Given the description of an element on the screen output the (x, y) to click on. 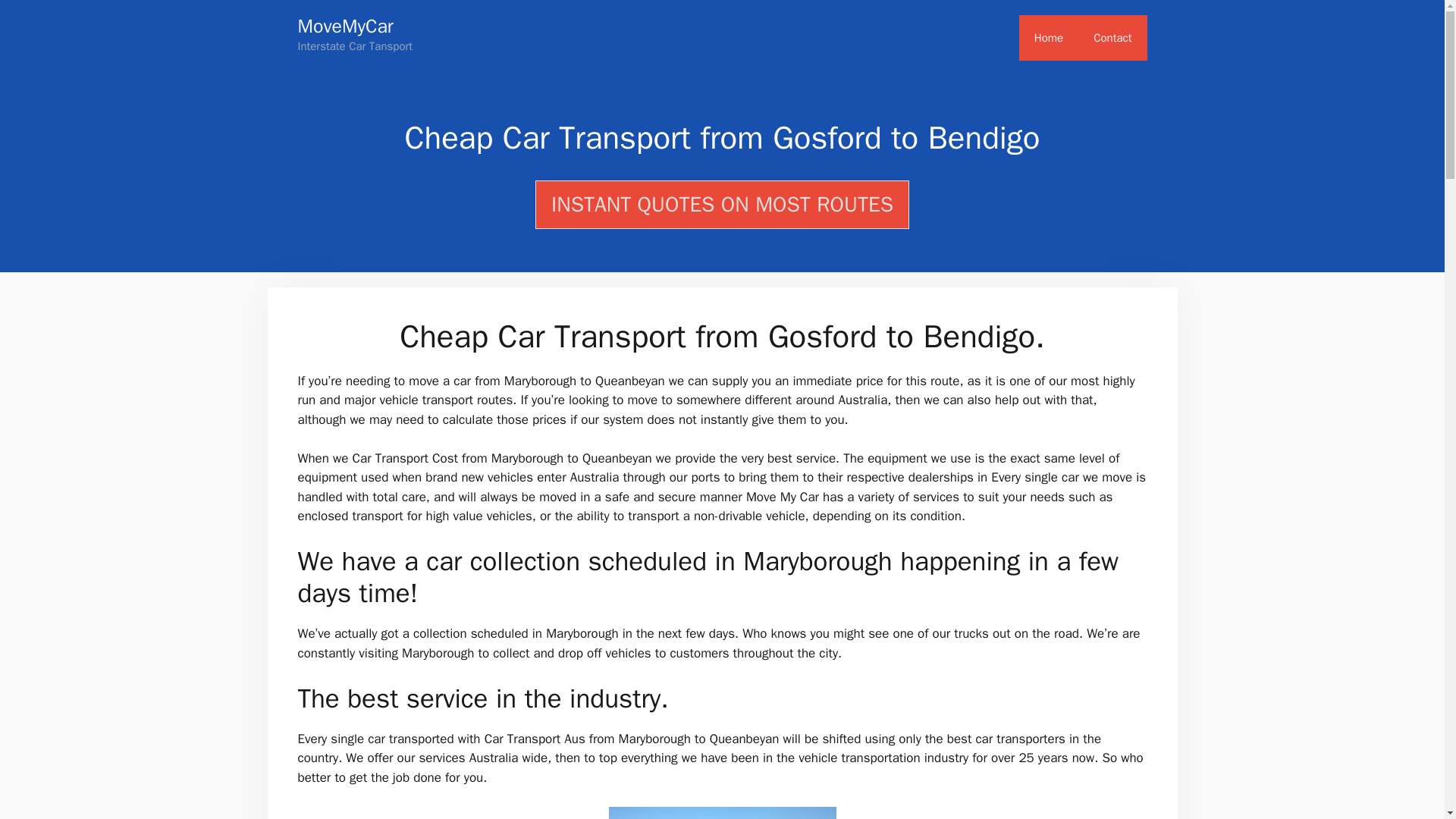
INSTANT QUOTES ON MOST ROUTES (721, 204)
Contact (1112, 37)
MoveMyCar (345, 25)
Home (1048, 37)
